Given the description of an element on the screen output the (x, y) to click on. 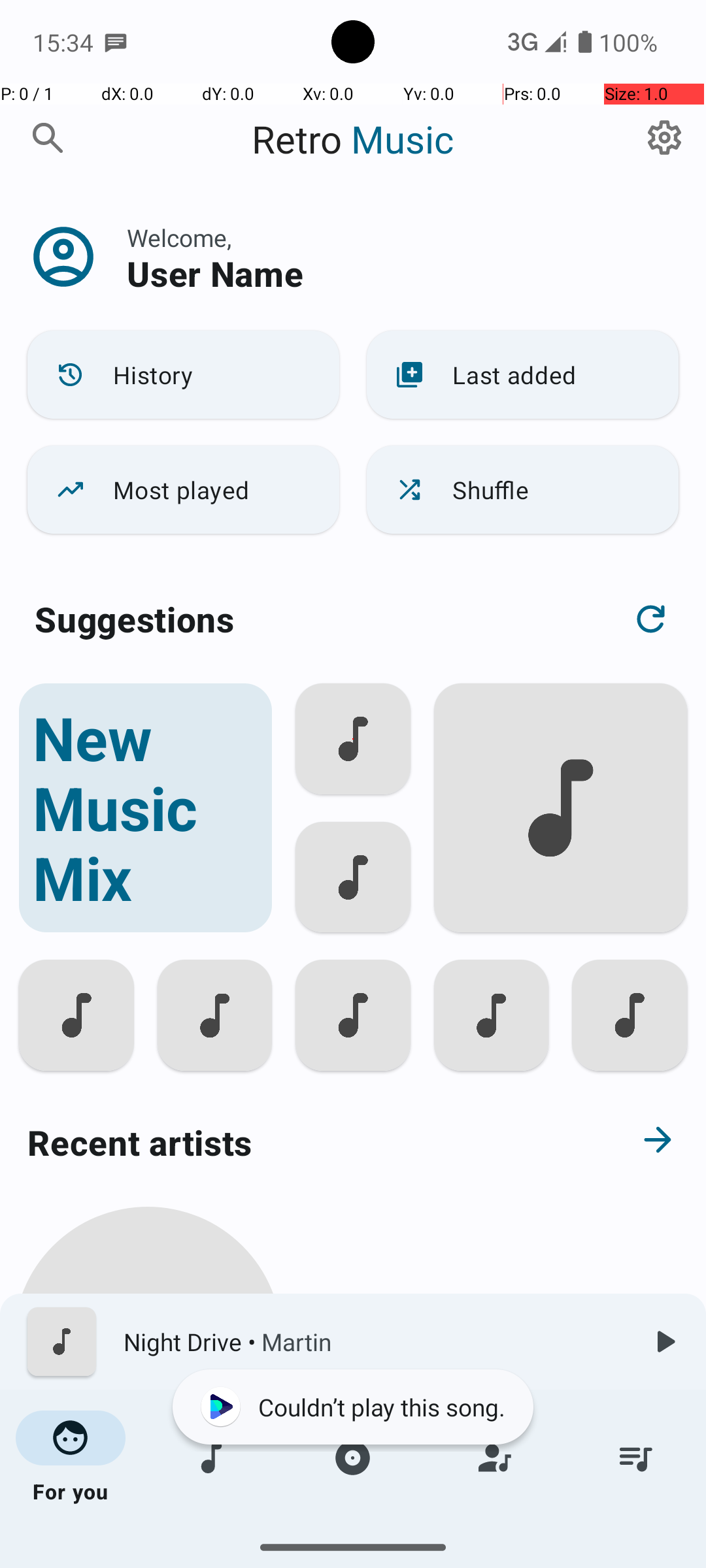
Night Drive • Martin Element type: android.widget.TextView (372, 1341)
Anna Element type: android.widget.TextView (147, 1503)
